Given the description of an element on the screen output the (x, y) to click on. 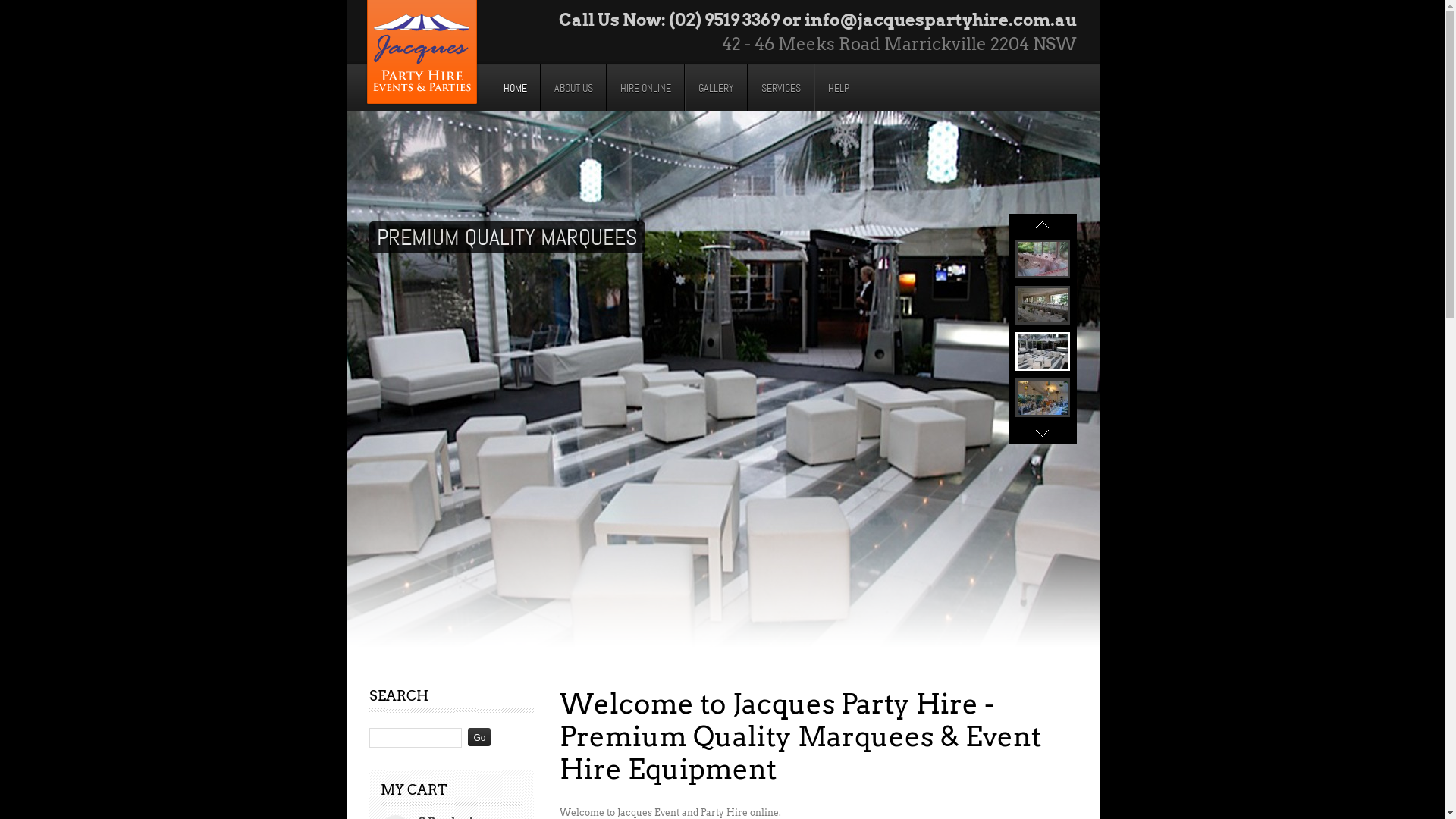
info@jacquespartyhire.com.au Element type: text (939, 19)
GALLERY Element type: text (715, 87)
SERVICES Element type: text (780, 87)
ABOUT US Element type: text (572, 87)
Go Element type: text (478, 737)
HELP Element type: text (838, 87)
HOME Element type: text (514, 87)
Jacques Party Hire Element type: hover (421, 53)
HIRE ONLINE Element type: text (645, 87)
